Given the description of an element on the screen output the (x, y) to click on. 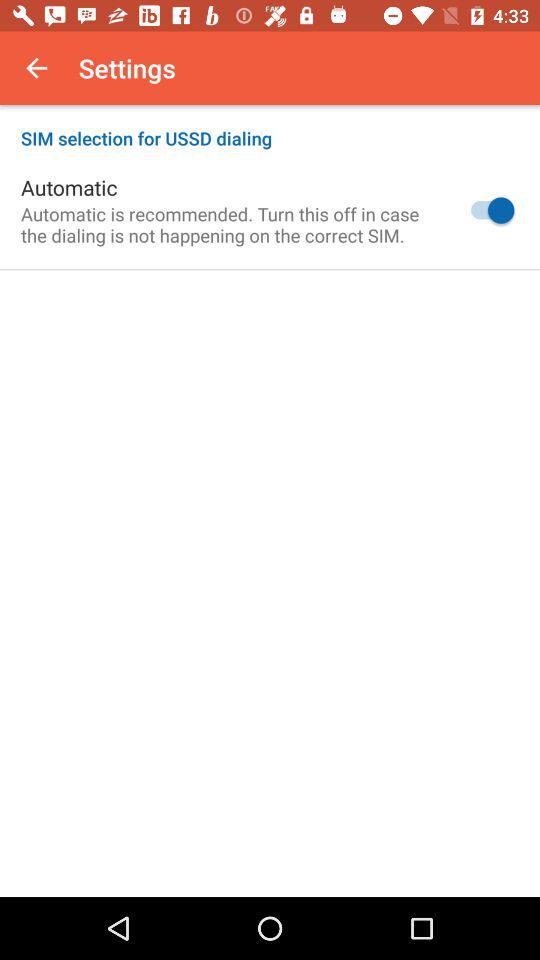
turn on sim selection for icon (270, 127)
